Given the description of an element on the screen output the (x, y) to click on. 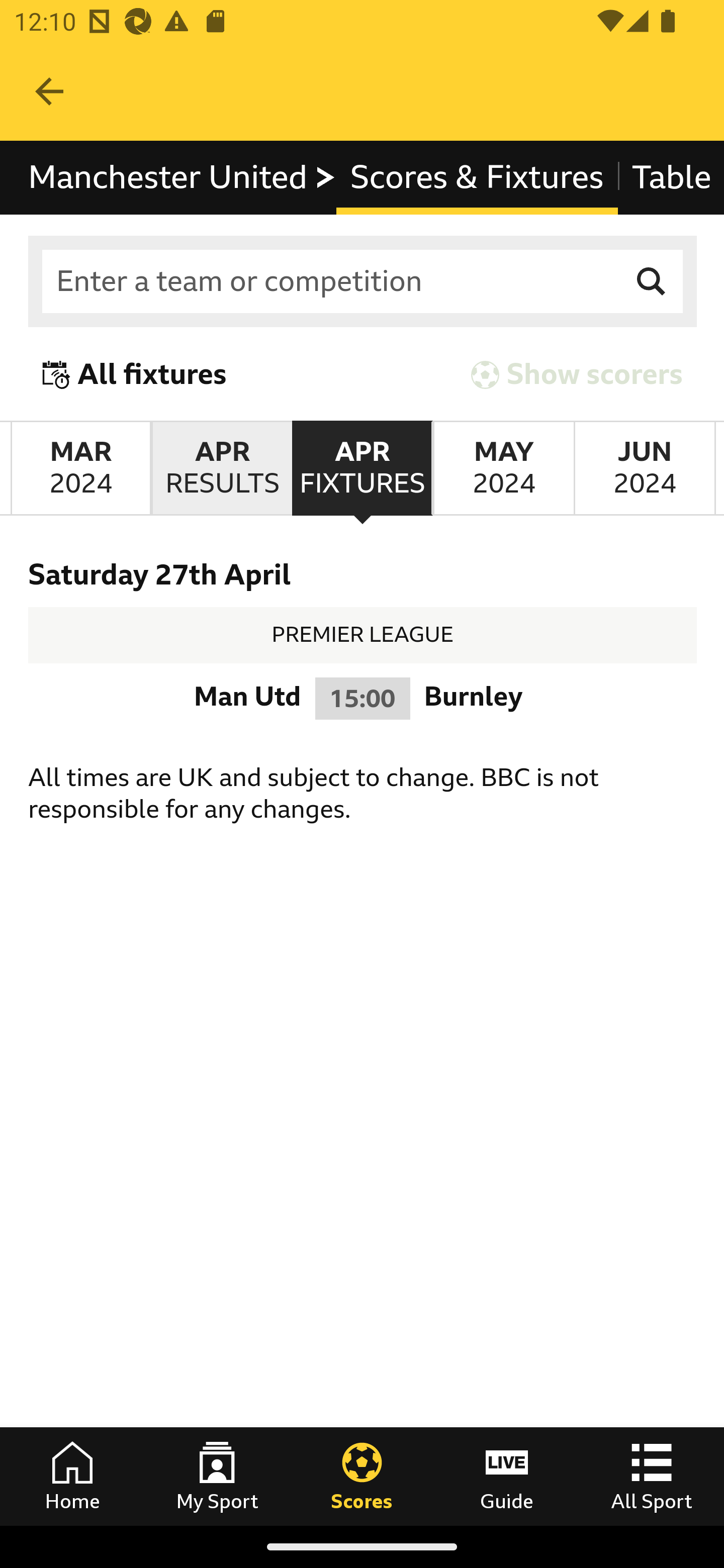
Navigate up (49, 91)
Manchester United  (183, 177)
Scores & Fixtures (476, 177)
Table (670, 177)
Search (651, 282)
All fixtures (134, 374)
Show scorers (576, 374)
March2024 March 2024 (80, 468)
AprilRESULTS April RESULTS (221, 468)
AprilFIXTURES, Selected April FIXTURES , Selected (361, 468)
May2024 May 2024 (502, 468)
June2024 June 2024 (644, 468)
Home (72, 1475)
My Sport (216, 1475)
Guide (506, 1475)
All Sport (651, 1475)
